Given the description of an element on the screen output the (x, y) to click on. 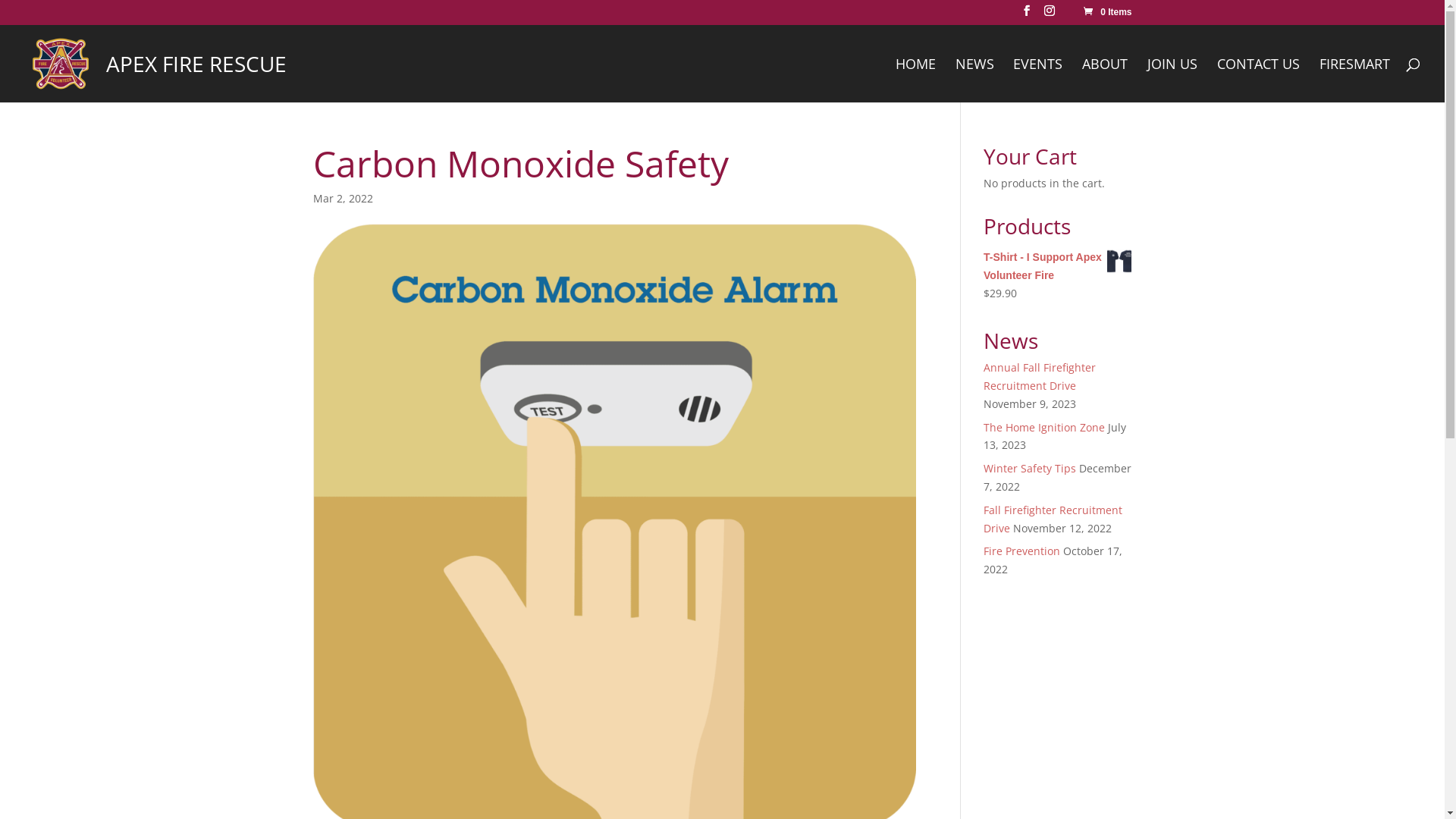
JOIN US Element type: text (1172, 79)
Winter Safety Tips Element type: text (1029, 468)
T-Shirt - I Support Apex Volunteer Fire Element type: text (1057, 266)
Fall Firefighter Recruitment Drive Element type: text (1052, 518)
ABOUT Element type: text (1104, 79)
NEWS Element type: text (974, 79)
CONTACT US Element type: text (1258, 79)
HOME Element type: text (915, 79)
The Home Ignition Zone Element type: text (1043, 427)
0 Items Element type: text (1106, 11)
EVENTS Element type: text (1037, 79)
Annual Fall Firefighter Recruitment Drive Element type: text (1039, 376)
FIRESMART Element type: text (1354, 79)
APEX FIRE RESCUE Element type: text (155, 61)
Fire Prevention Element type: text (1021, 550)
